Given the description of an element on the screen output the (x, y) to click on. 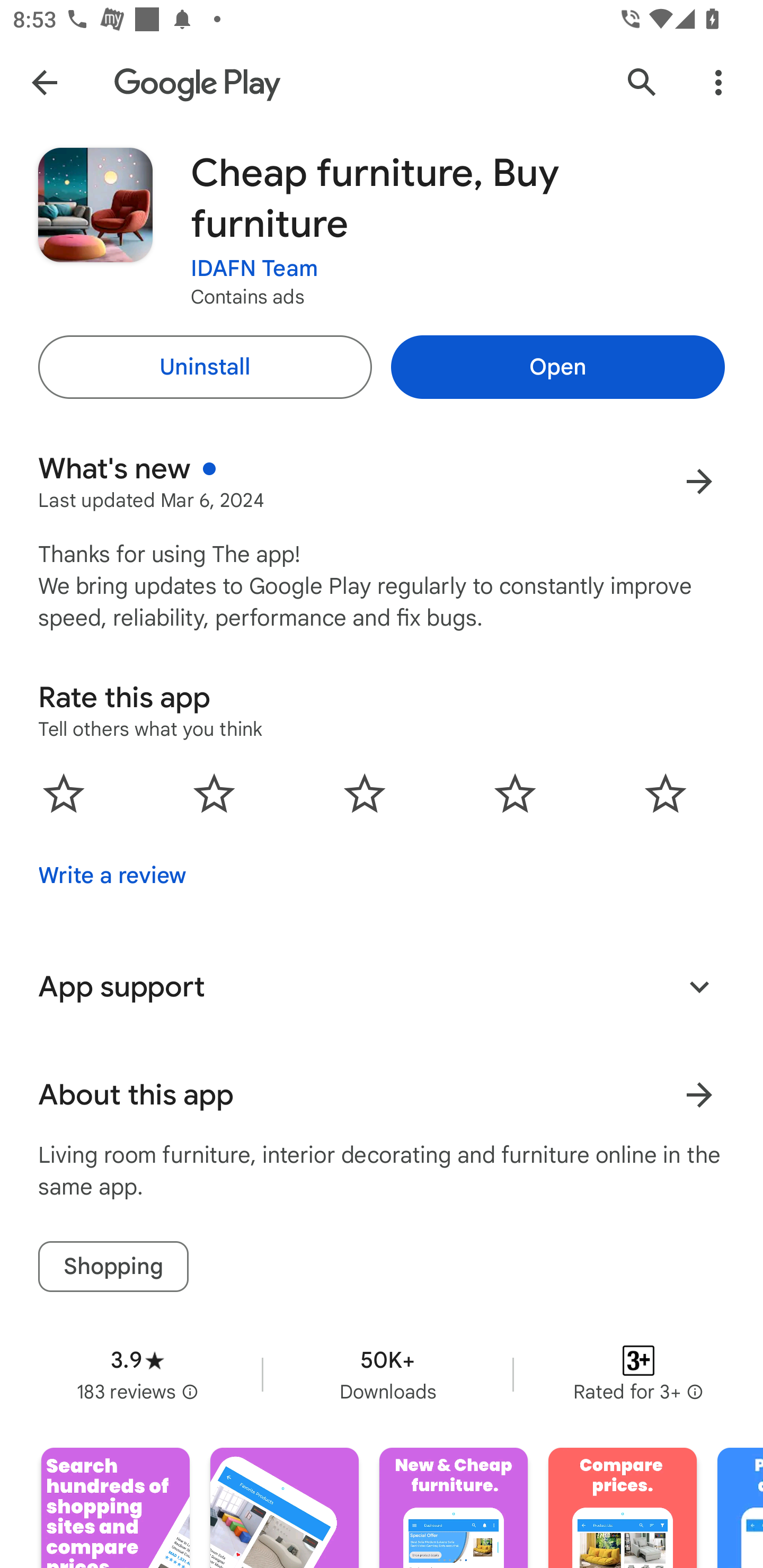
Navigate up (44, 81)
Search Google Play (642, 81)
More Options (718, 81)
IDAFN Team (254, 268)
Uninstall (205, 366)
Open (557, 366)
More results for What's new (699, 481)
0.0 (364, 792)
Write a review (112, 875)
App support Expand (381, 986)
Expand (699, 986)
About this app Learn more About this app (381, 1094)
Learn more About this app (699, 1094)
Shopping tag (113, 1265)
Average rating 3.9 stars in 183 reviews (137, 1374)
Content rating Rated for 3+ (638, 1374)
Screenshot "1" of "7" (115, 1507)
Screenshot "2" of "7" (284, 1507)
Screenshot "3" of "7" (453, 1507)
Screenshot "4" of "7" (622, 1507)
